Given the description of an element on the screen output the (x, y) to click on. 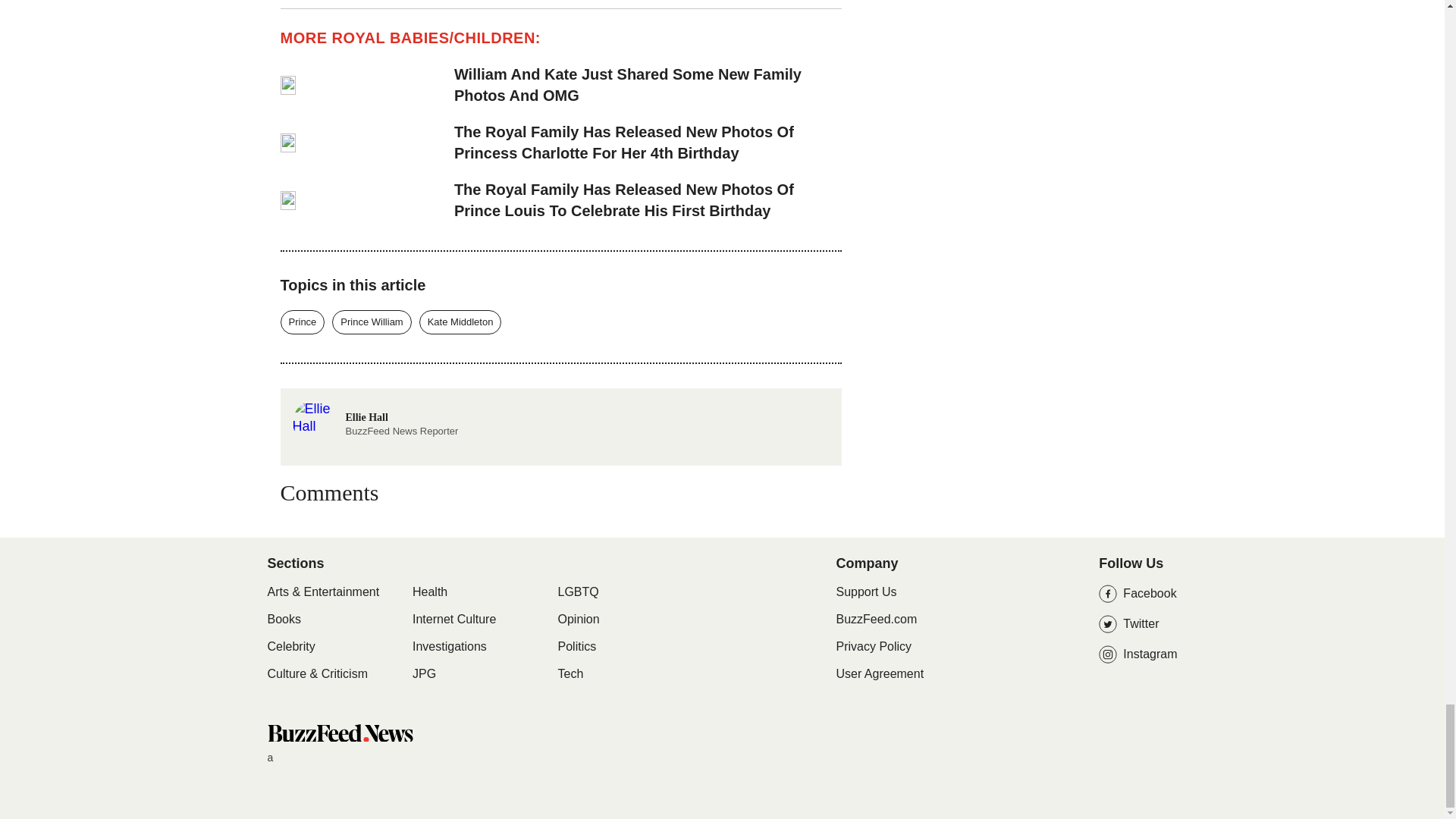
William And Kate Just Shared Some New Family Photos And OMG (647, 84)
Celebrity (290, 646)
Kate Middleton (460, 322)
BuzzFeed News Home (375, 408)
Prince (339, 732)
Investigations (302, 322)
Health (449, 646)
